Given the description of an element on the screen output the (x, y) to click on. 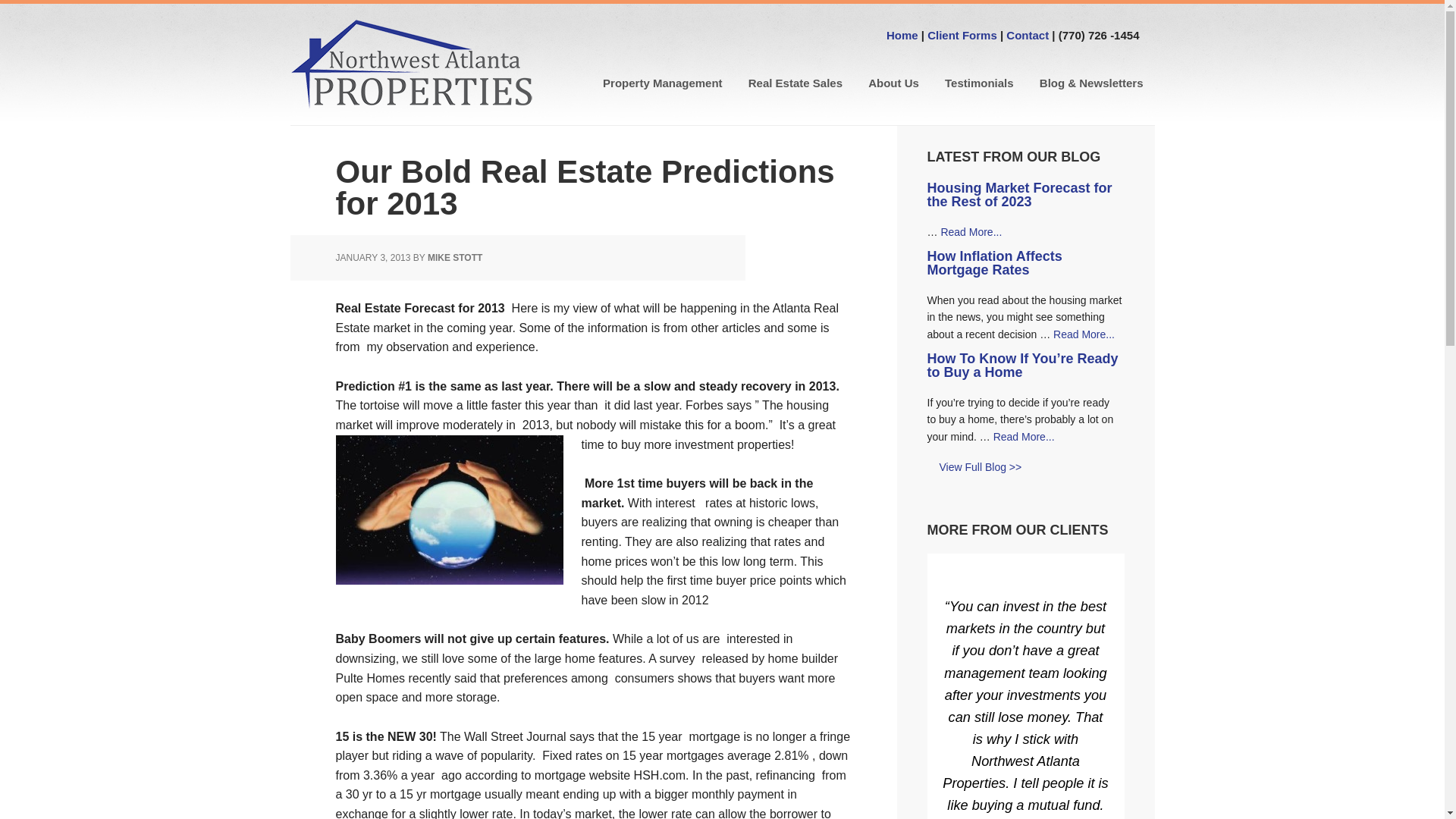
Northwest Atlanta Properties (410, 63)
Home (902, 34)
How Inflation Affects Mortgage Rates (993, 262)
Housing Market Forecast for the Rest of 2023 (1019, 194)
Client Forms (962, 34)
Real Estate Sales (794, 83)
MIKE STOTT (454, 257)
Property Management Blog (974, 469)
Read More... (1083, 334)
Contact Us (1027, 34)
About Us (893, 83)
Property Management (662, 83)
Client Forms (962, 34)
Testimonials (979, 83)
Home (902, 34)
